Given the description of an element on the screen output the (x, y) to click on. 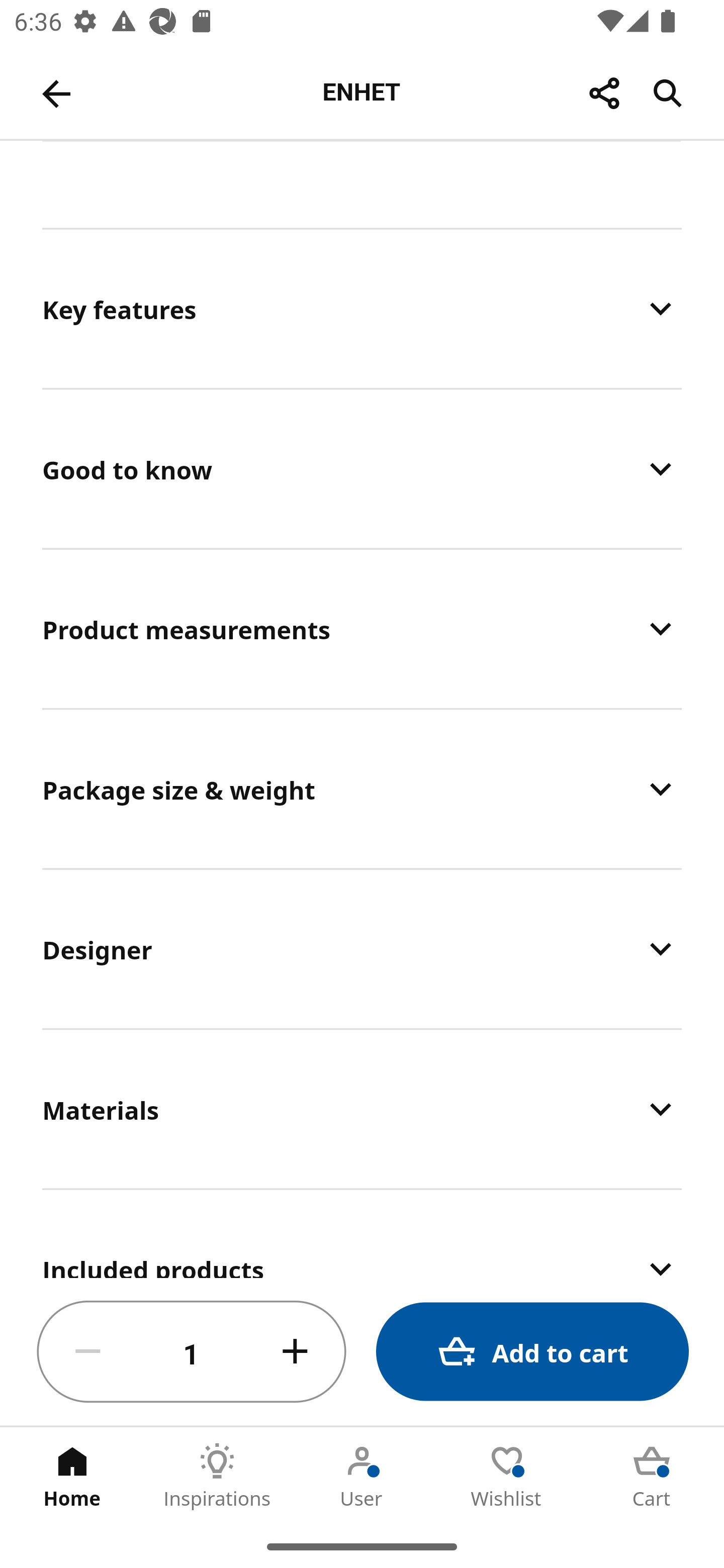
Key features (361, 307)
Good to know (361, 468)
Product measurements (361, 628)
Package size & weight (361, 789)
Designer (361, 948)
Materials (361, 1108)
Included products (361, 1234)
Add to cart (531, 1352)
1 (191, 1352)
Home
Tab 1 of 5 (72, 1476)
Inspirations
Tab 2 of 5 (216, 1476)
User
Tab 3 of 5 (361, 1476)
Wishlist
Tab 4 of 5 (506, 1476)
Cart
Tab 5 of 5 (651, 1476)
